Given the description of an element on the screen output the (x, y) to click on. 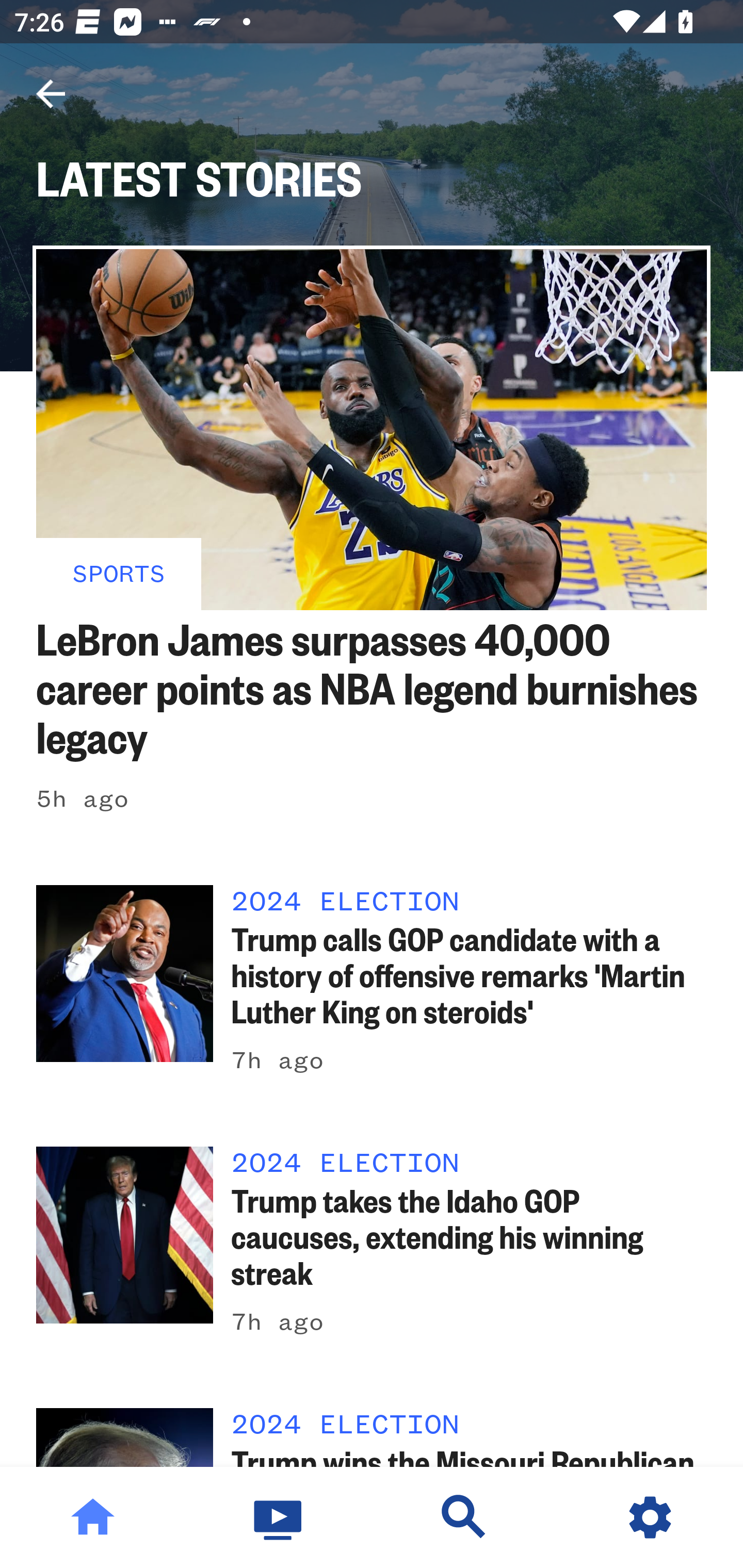
Navigate up (50, 93)
Watch (278, 1517)
Discover (464, 1517)
Settings (650, 1517)
